Given the description of an element on the screen output the (x, y) to click on. 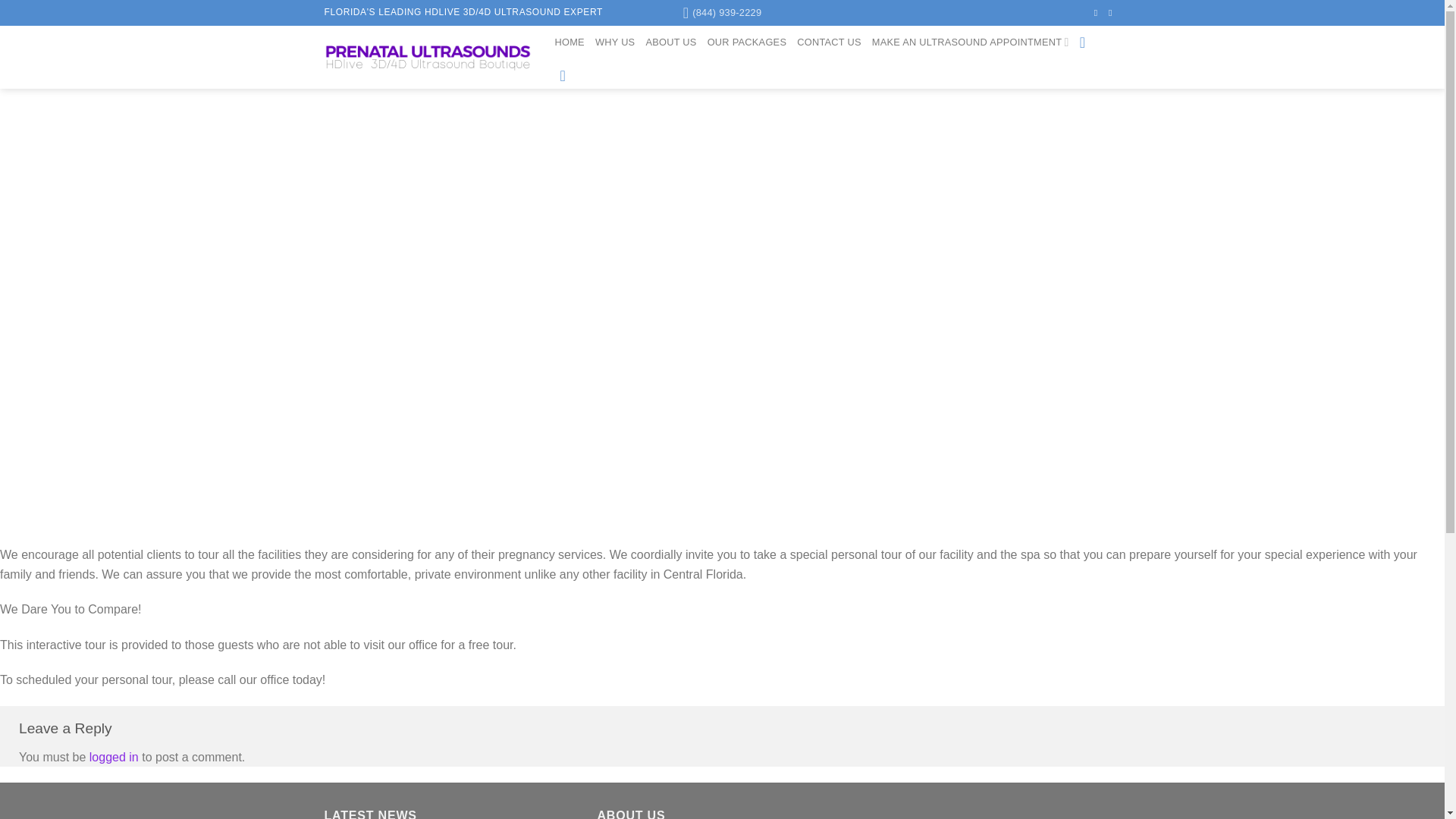
HOME (569, 42)
Ultrasound Packages (747, 42)
MAKE AN ULTRASOUND APPOINTMENT (970, 42)
OUR PACKAGES (747, 42)
logged in (113, 757)
Why Us (614, 42)
Home (569, 42)
About Us (670, 42)
WHY US (614, 42)
Make an Ultrasound Appointment (970, 42)
